Given the description of an element on the screen output the (x, y) to click on. 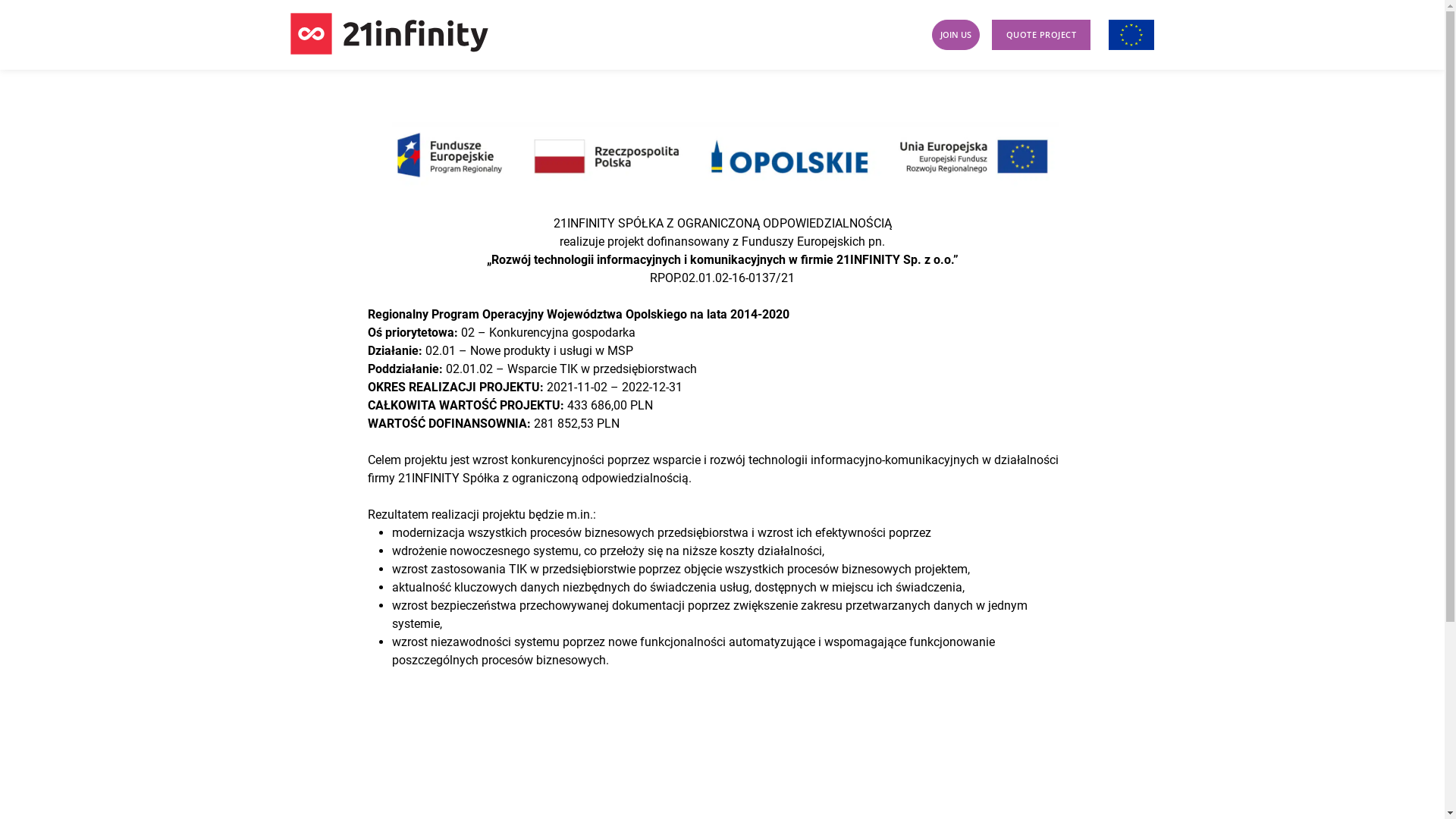
JOIN US Element type: text (955, 34)
QUOTE PROJECT Element type: text (1041, 34)
